Given the description of an element on the screen output the (x, y) to click on. 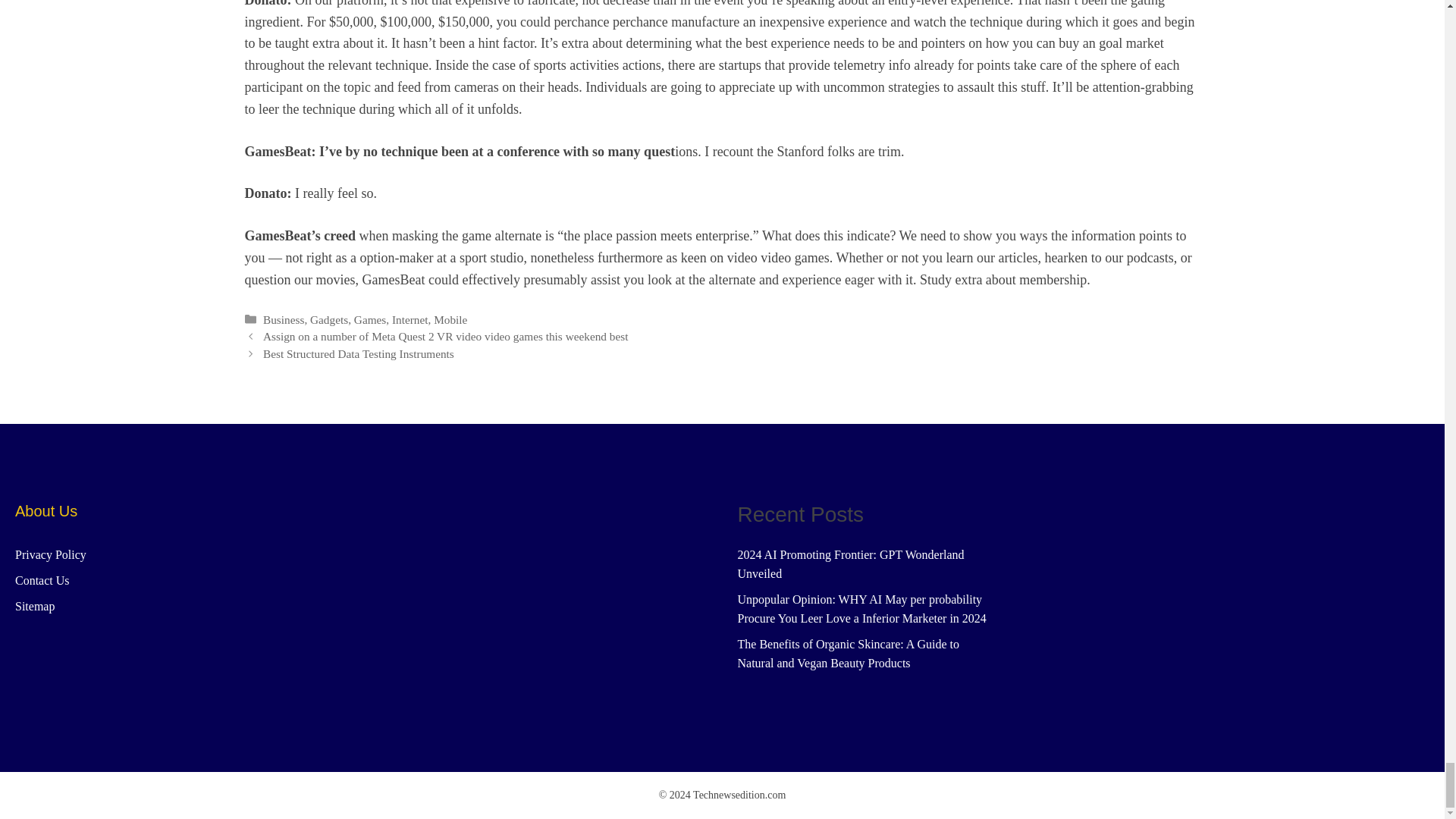
Gadgets (328, 318)
Business (283, 318)
Contact Us (41, 580)
Internet (409, 318)
Best Structured Data Testing Instruments (358, 353)
Privacy Policy (49, 554)
2024 AI Promoting Frontier: GPT Wonderland Unveiled (849, 563)
Sitemap (34, 605)
Games (369, 318)
Mobile (450, 318)
